Given the description of an element on the screen output the (x, y) to click on. 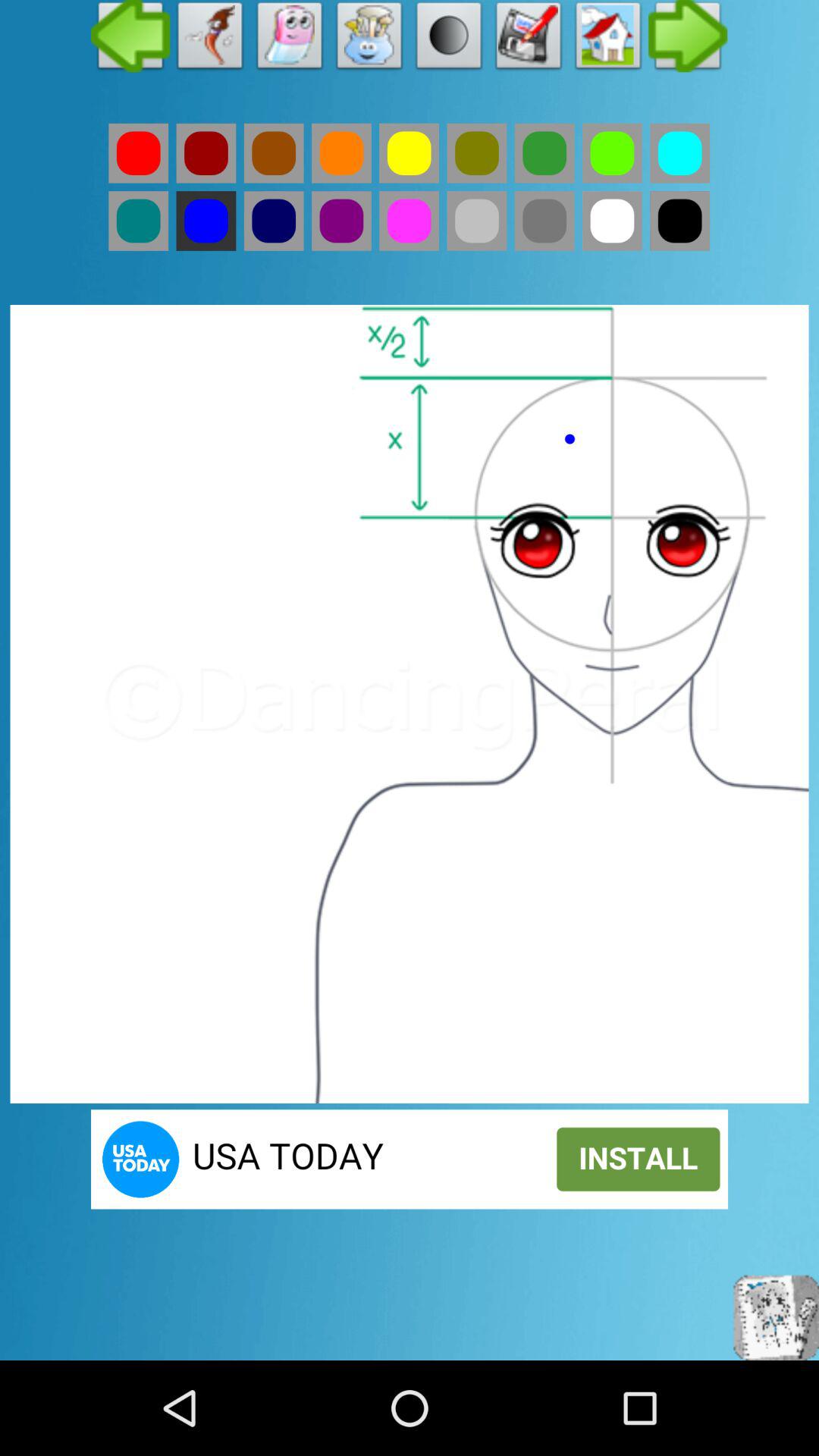
change color (409, 220)
